Given the description of an element on the screen output the (x, y) to click on. 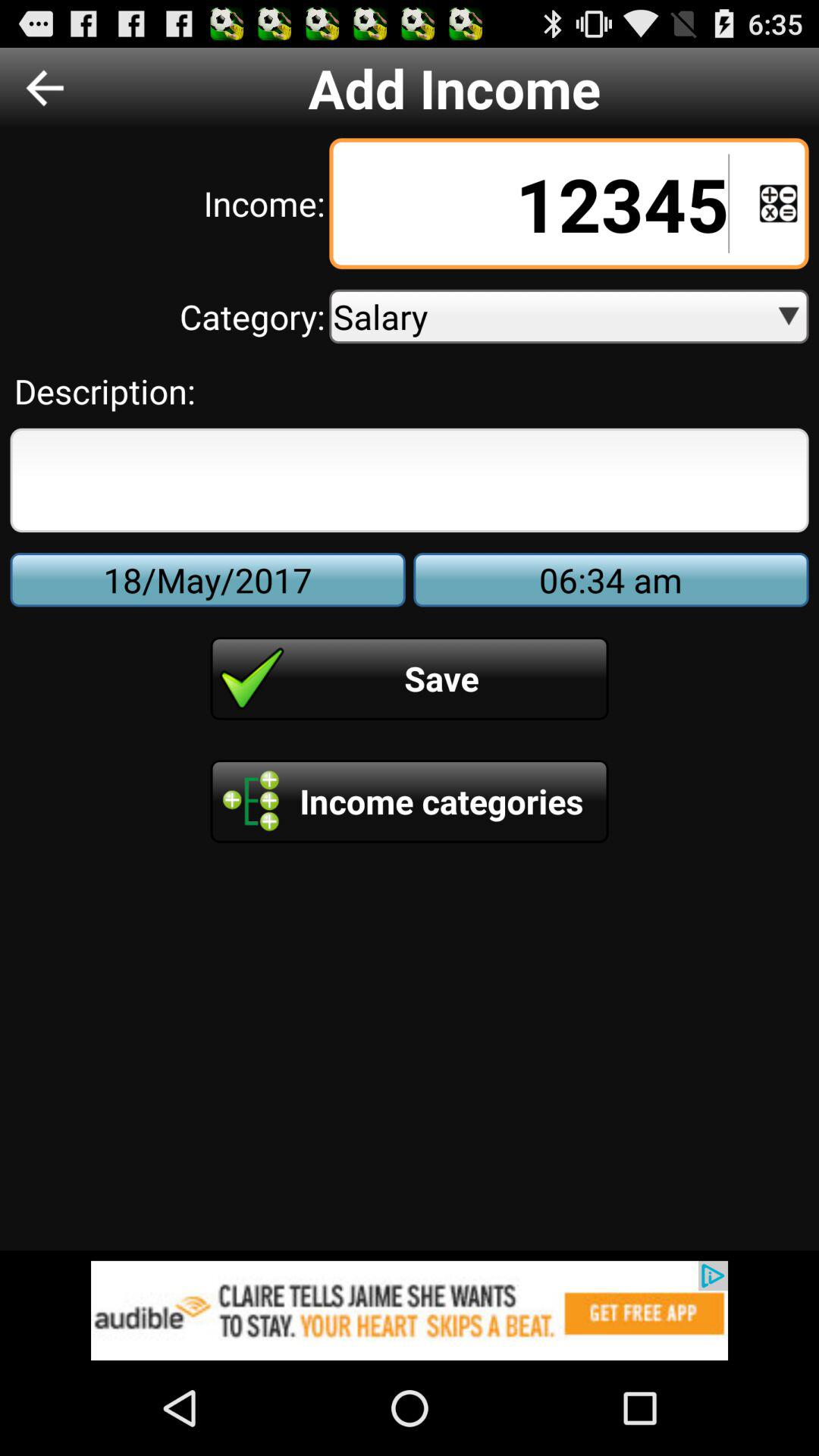
advertisement (409, 1310)
